Given the description of an element on the screen output the (x, y) to click on. 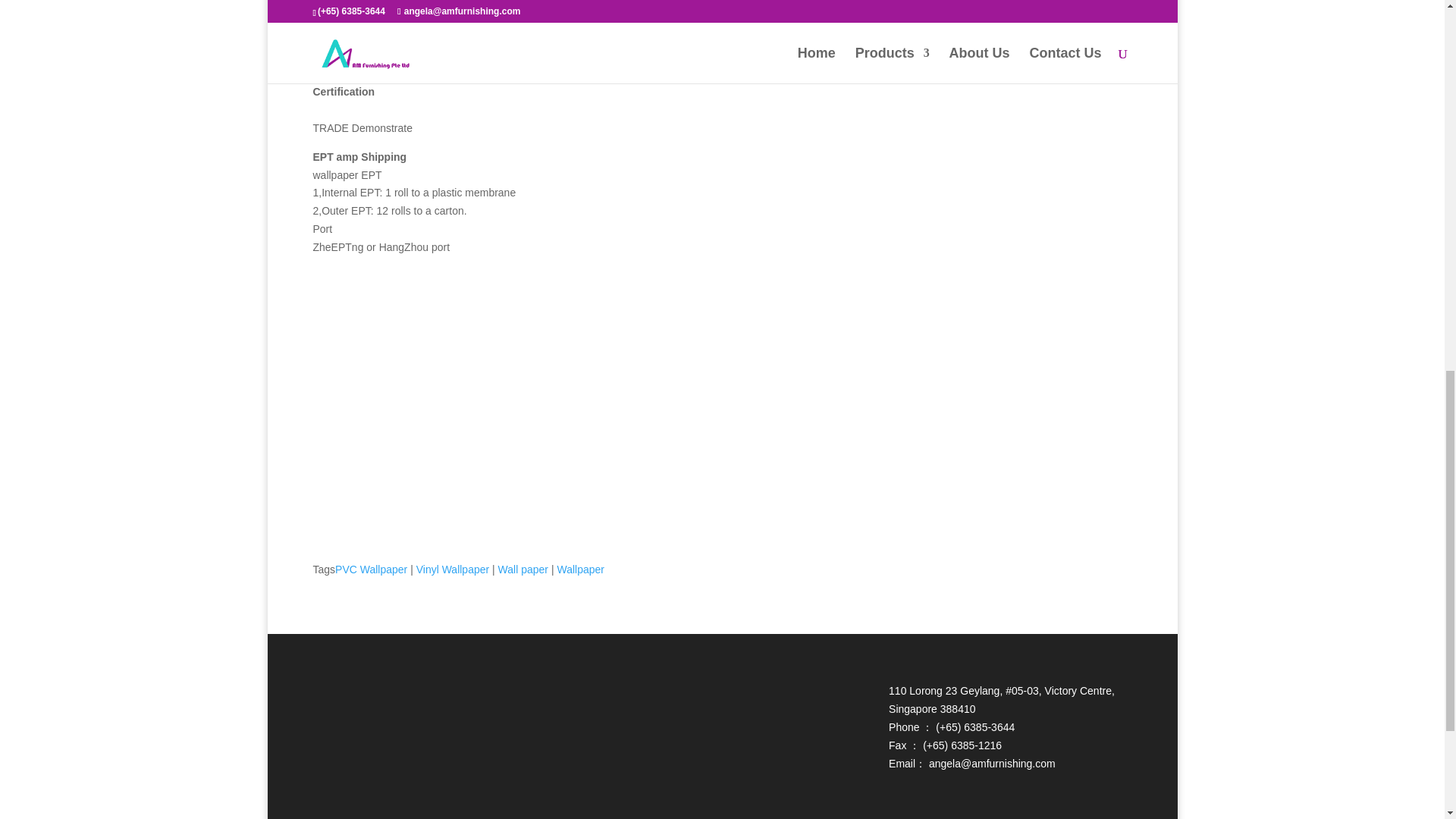
Vinyl Wallpaper (452, 569)
Wall paper (522, 569)
Wallpaper (580, 569)
PVC Wallpaper (370, 569)
